Given the description of an element on the screen output the (x, y) to click on. 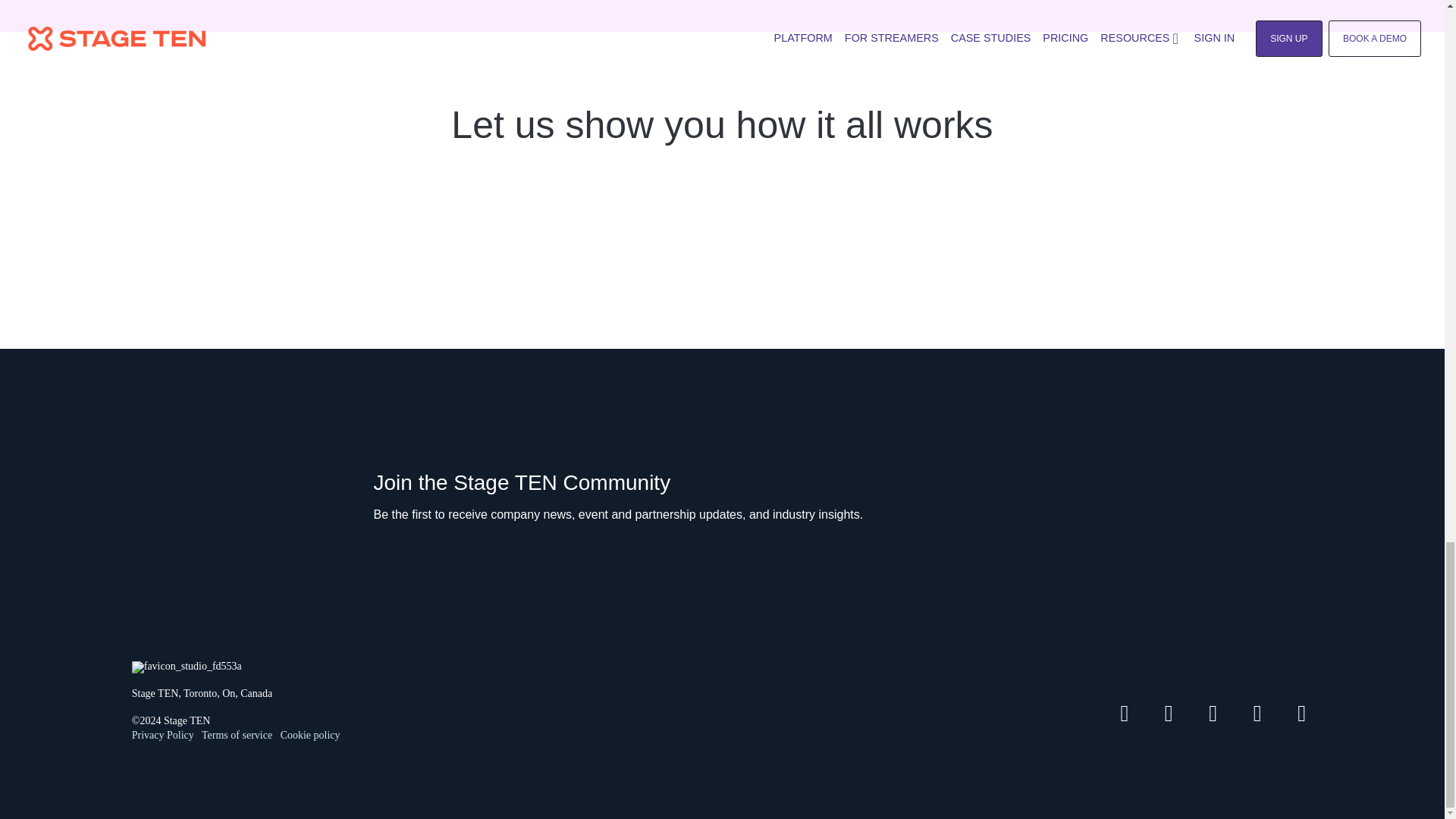
Terms of service (237, 735)
Cookie policy (310, 735)
Privacy Policy (172, 742)
